Given the description of an element on the screen output the (x, y) to click on. 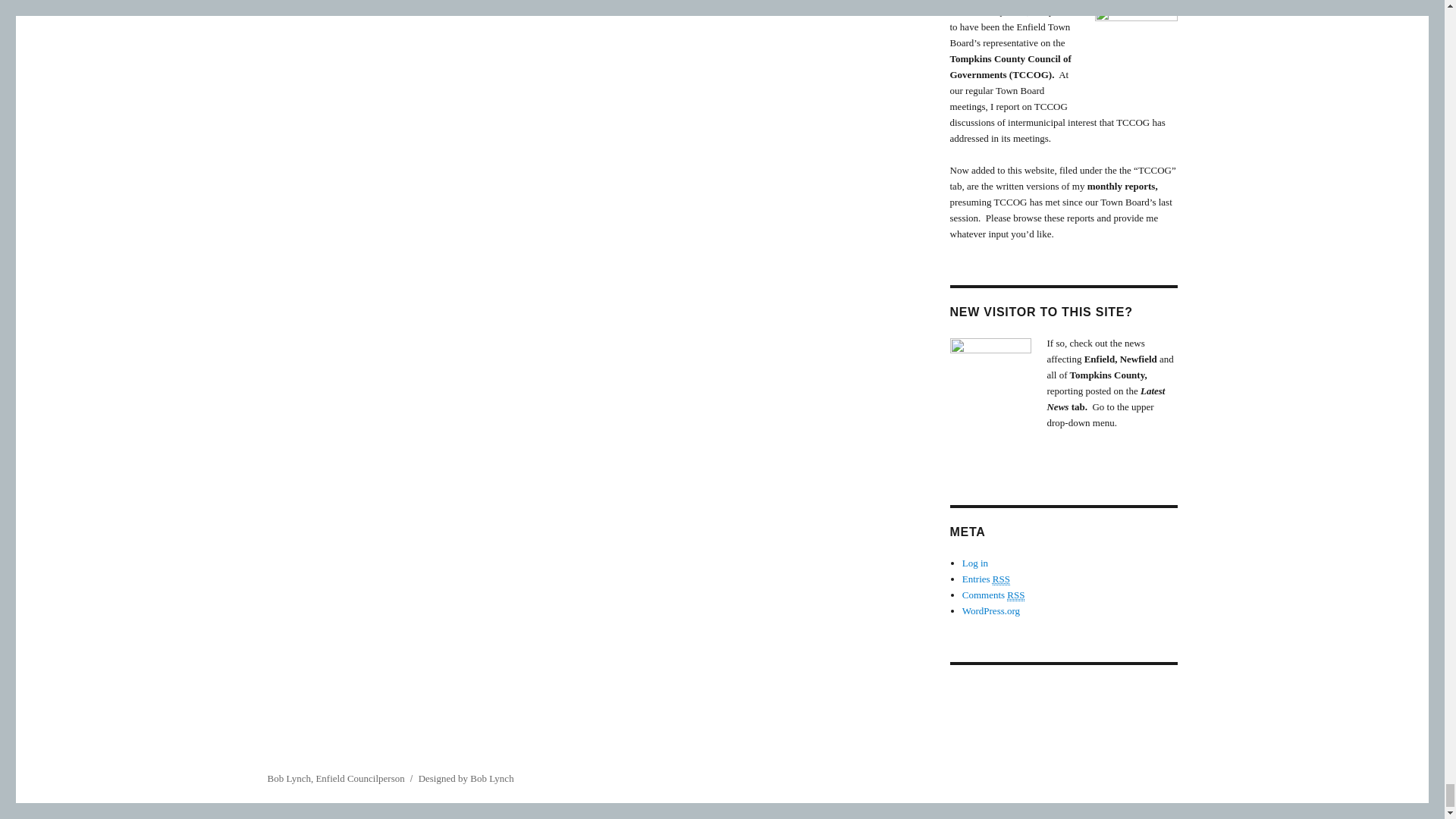
Really Simple Syndication (1016, 594)
Really Simple Syndication (1001, 579)
